Given the description of an element on the screen output the (x, y) to click on. 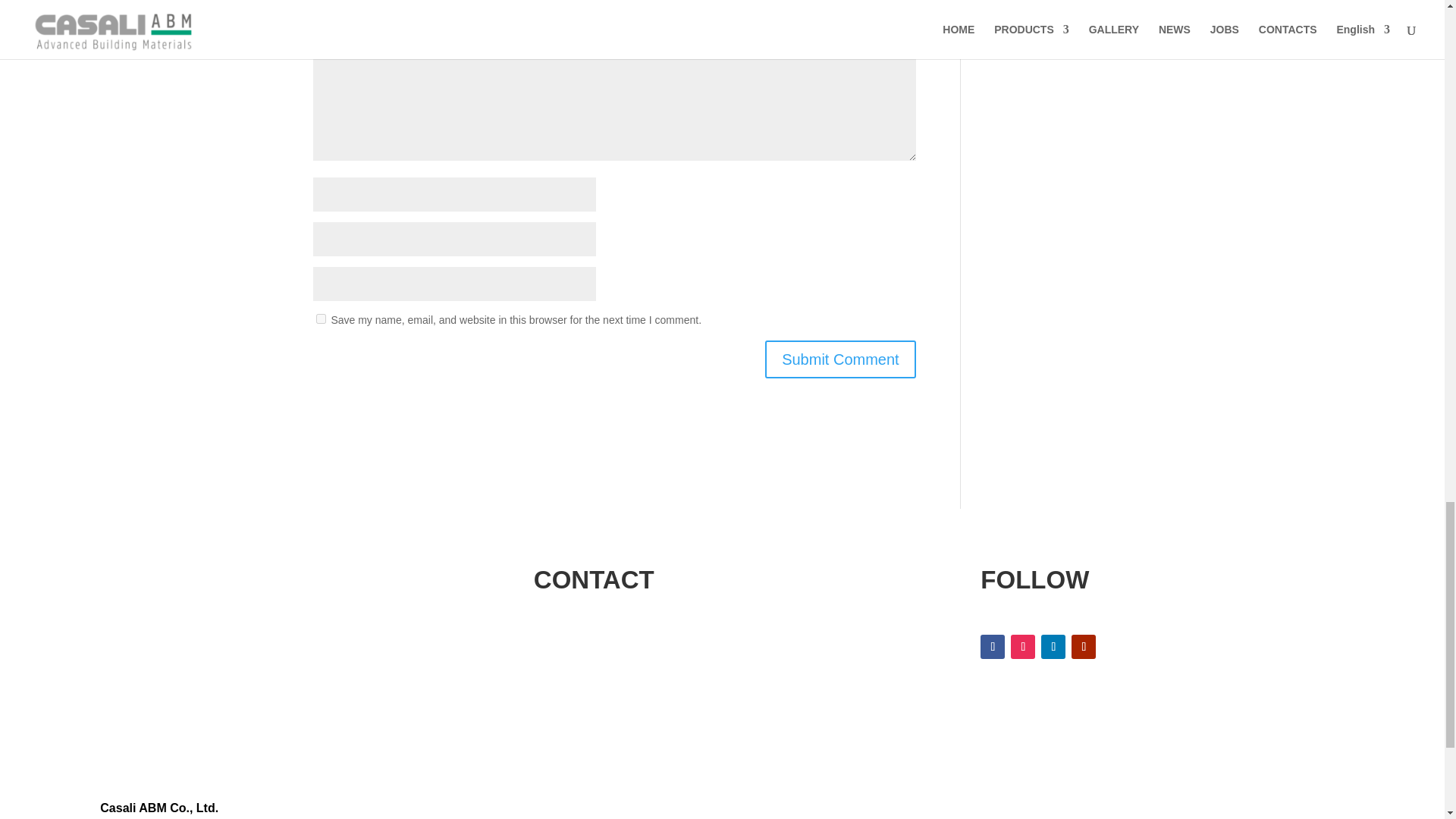
Follow on Facebook (991, 646)
Submit Comment (840, 359)
Follow on Youtube (1083, 646)
yes (319, 318)
Follow on Instagram (1022, 646)
Follow on LinkedIn (1053, 646)
